Given the description of an element on the screen output the (x, y) to click on. 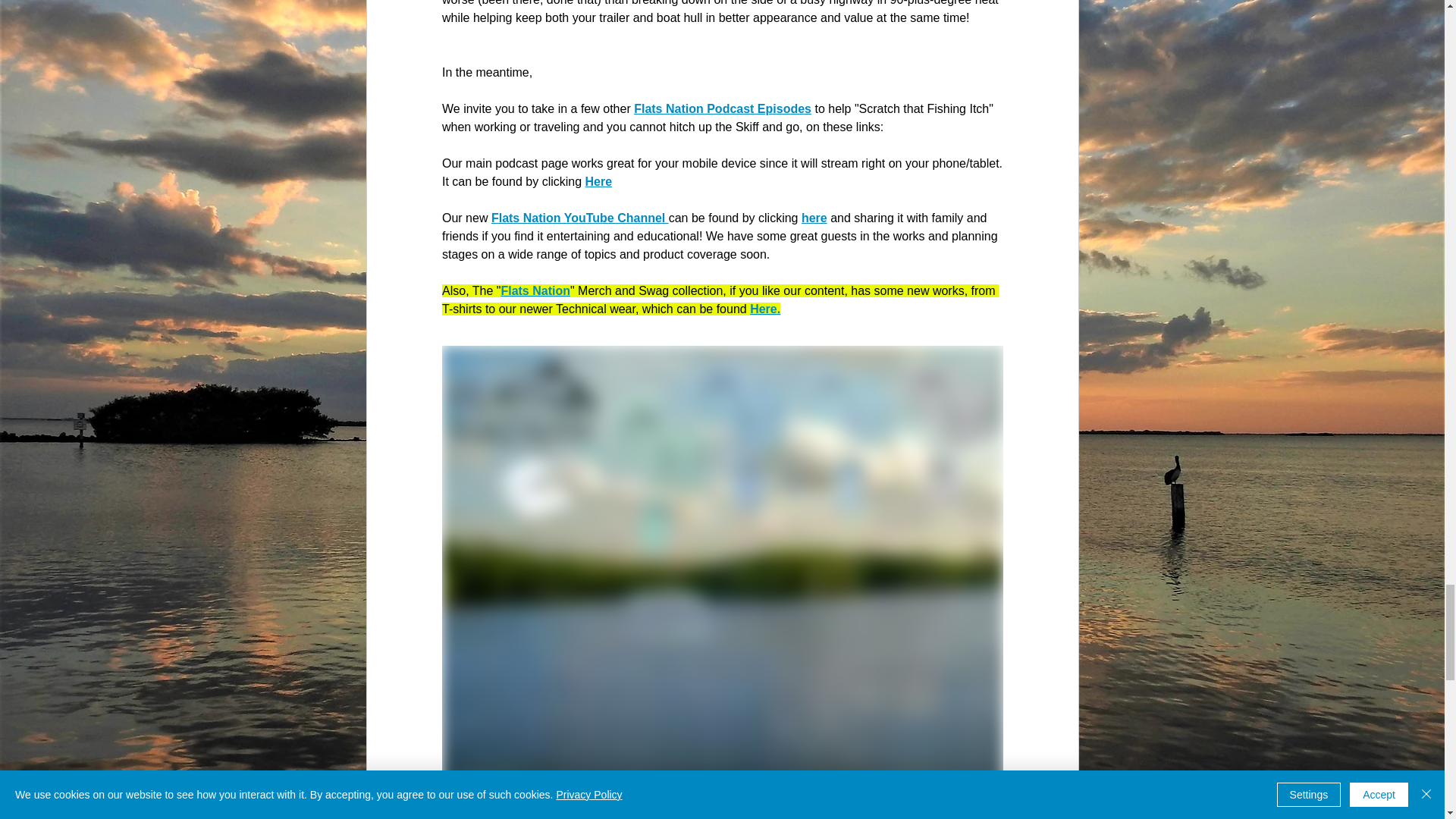
Flats Nation (535, 290)
Flats Nation Podcast Episodes (721, 108)
Here (763, 308)
Here (598, 181)
here (813, 217)
Flats Nation YouTube Channel  (579, 217)
